Given the description of an element on the screen output the (x, y) to click on. 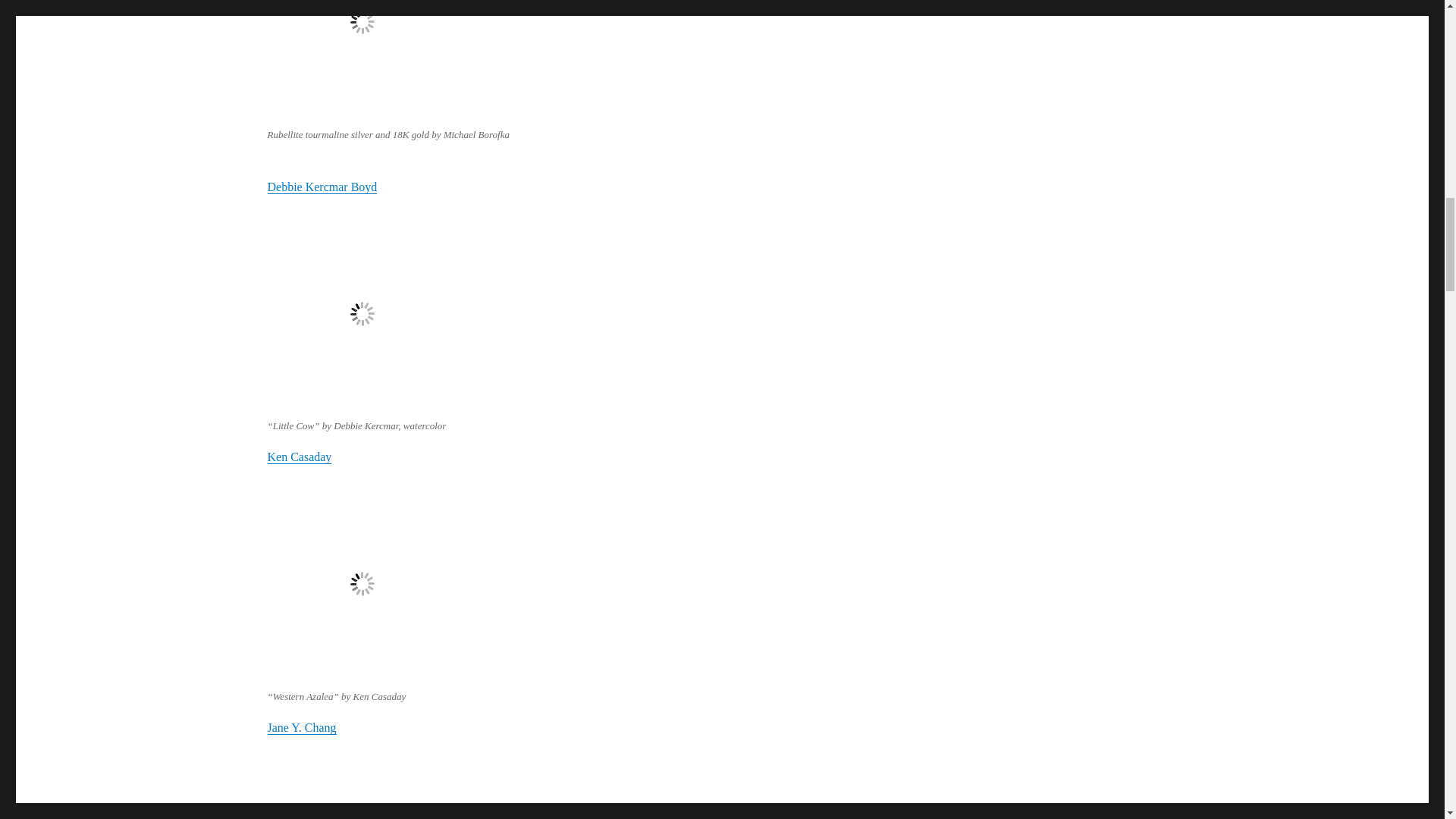
Ken Casaday (298, 456)
Debbie Kercmar Boyd (321, 186)
Jane Y. Chang (301, 727)
